Given the description of an element on the screen output the (x, y) to click on. 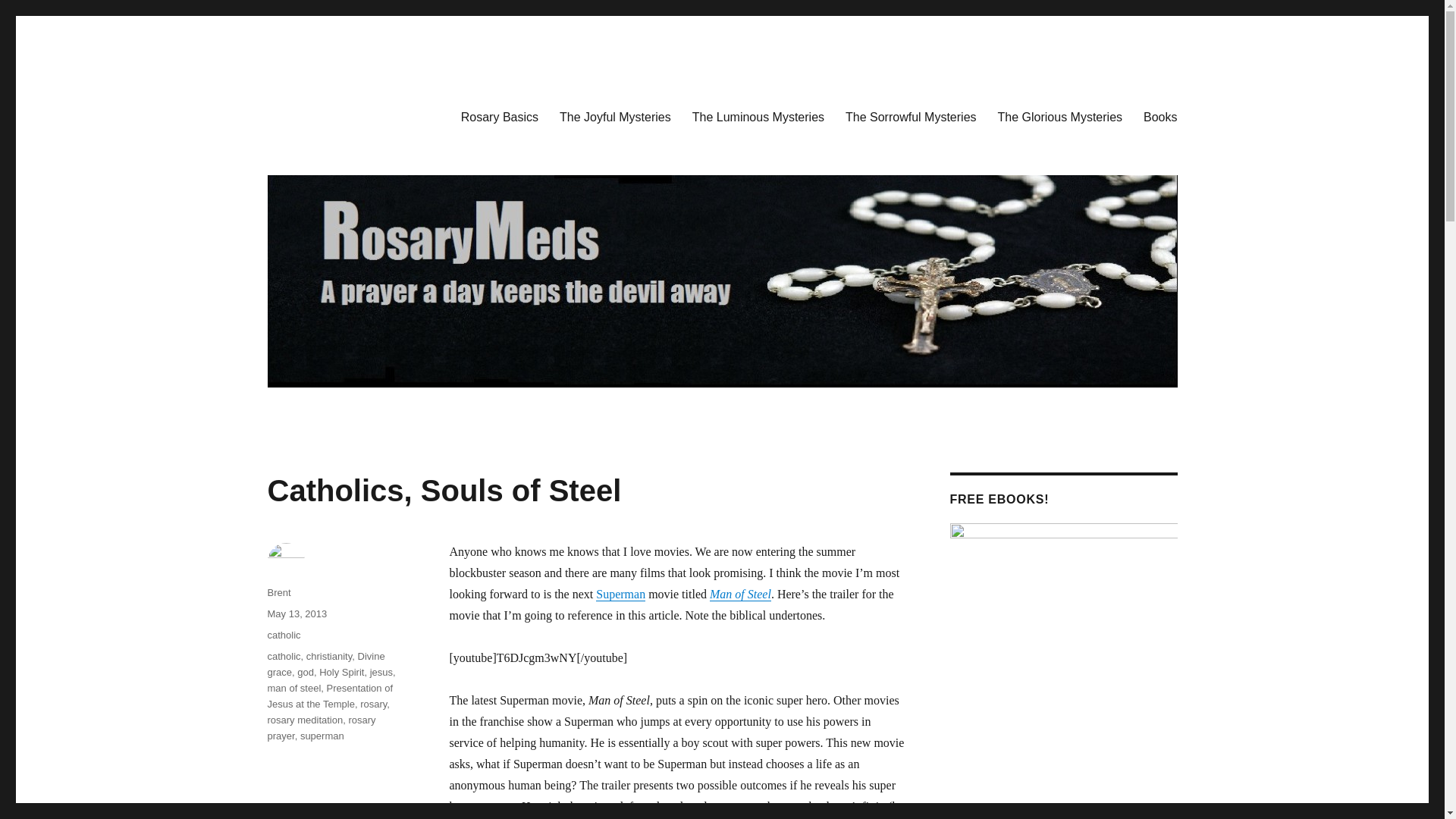
RosaryMeds (329, 114)
May 13, 2013 (296, 613)
Brent (277, 592)
Man of Steel (740, 594)
Superman (620, 594)
The Sorrowful Mysteries (910, 116)
catholic (282, 655)
The Luminous Mysteries (757, 116)
Books (1160, 116)
Smallville (620, 594)
catholic (282, 634)
The Joyful Mysteries (614, 116)
The Glorious Mysteries (1060, 116)
Rosary Basics (498, 116)
